Given the description of an element on the screen output the (x, y) to click on. 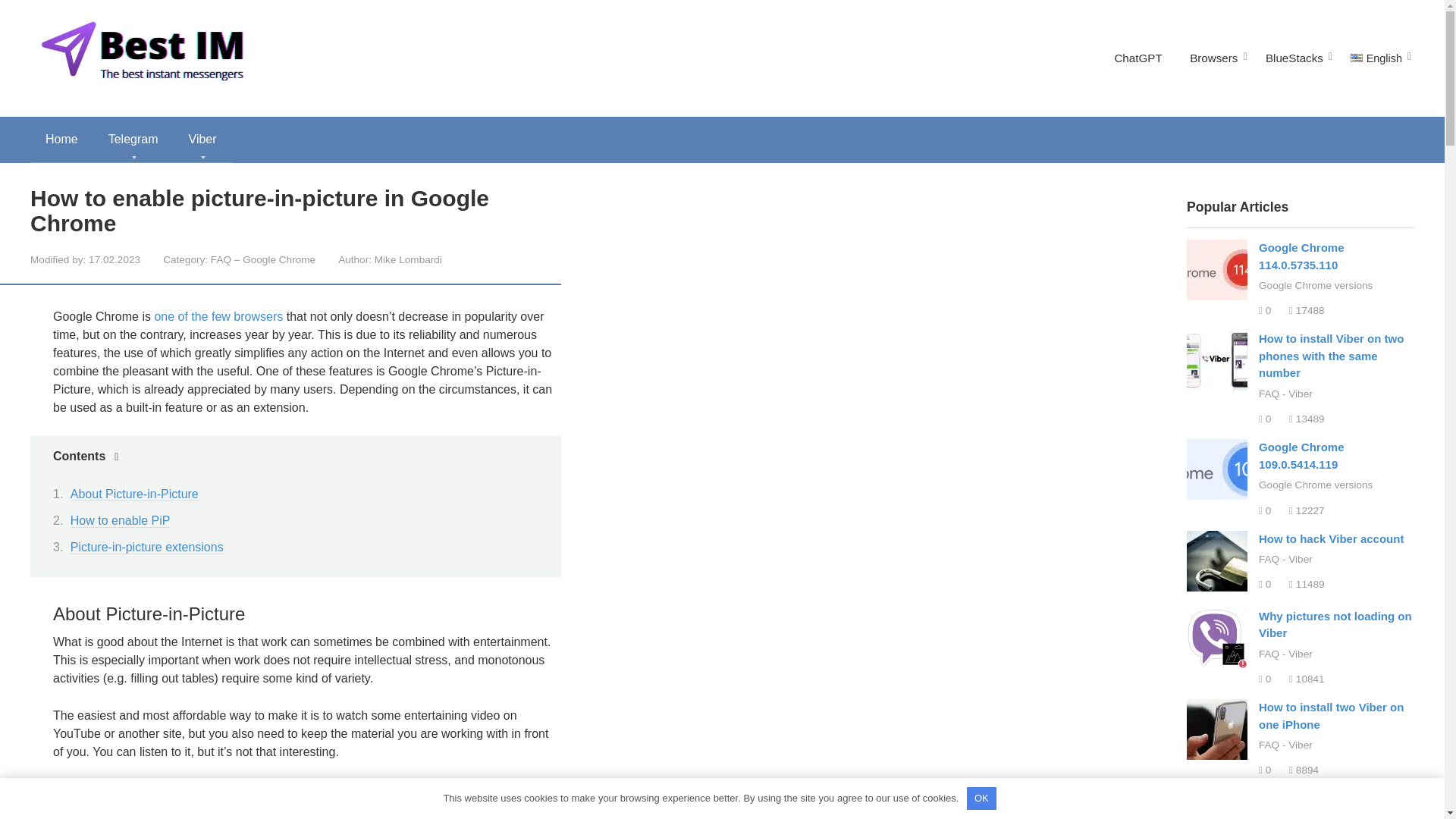
Comments (1265, 310)
Browsers (1213, 58)
English (1376, 58)
ChatGPT (1137, 58)
BlueStacks (1294, 58)
Views (1306, 310)
